Given the description of an element on the screen output the (x, y) to click on. 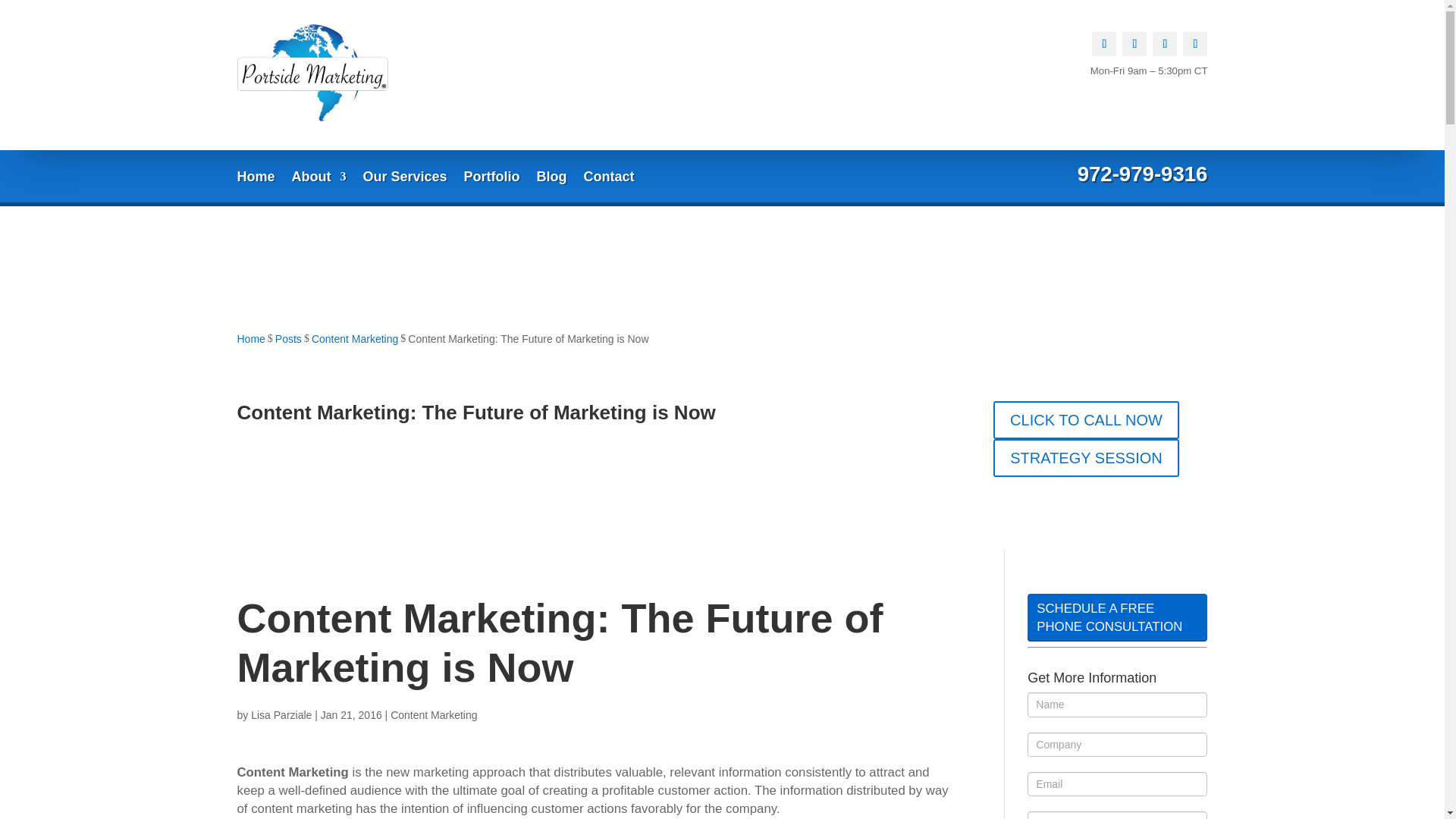
Follow on X (1134, 43)
Follow on Facebook (1104, 43)
Follow on Instagram (1164, 43)
Posts by Lisa Parziale (280, 715)
Home (255, 179)
Contact (608, 179)
972-979-9316 (1142, 173)
Follow on Youtube (1194, 43)
About (319, 179)
Our Services (404, 179)
